Given the description of an element on the screen output the (x, y) to click on. 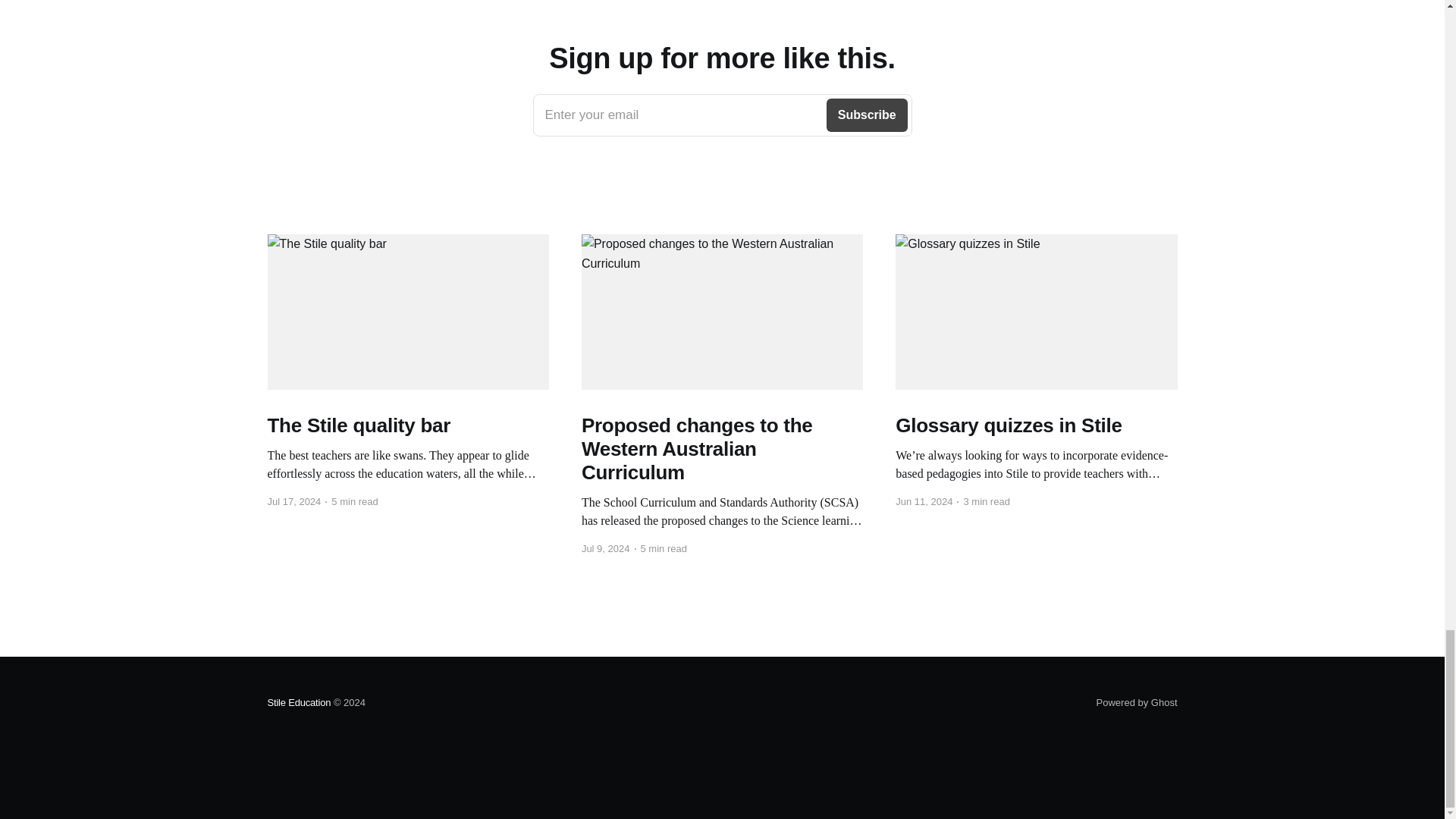
Powered by Ghost (721, 115)
Stile Education (1136, 702)
